Given the description of an element on the screen output the (x, y) to click on. 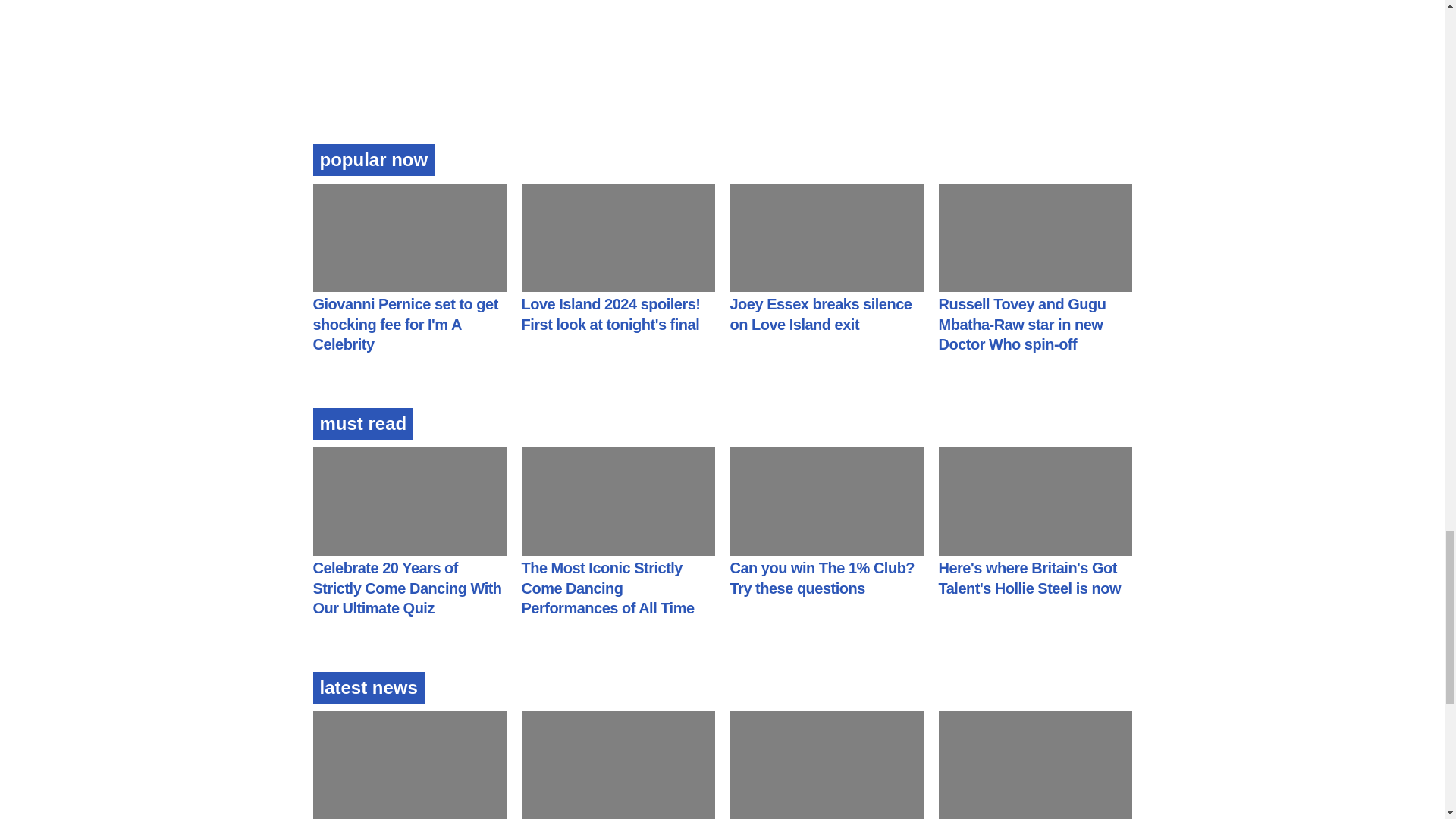
Giovanni Pernice set to get shocking fee for I'm A Celebrity (405, 323)
Joey Essex breaks silence on Love Island exit (820, 313)
Love Island 2024 spoilers! First look at tonight's final (610, 313)
